Given the description of an element on the screen output the (x, y) to click on. 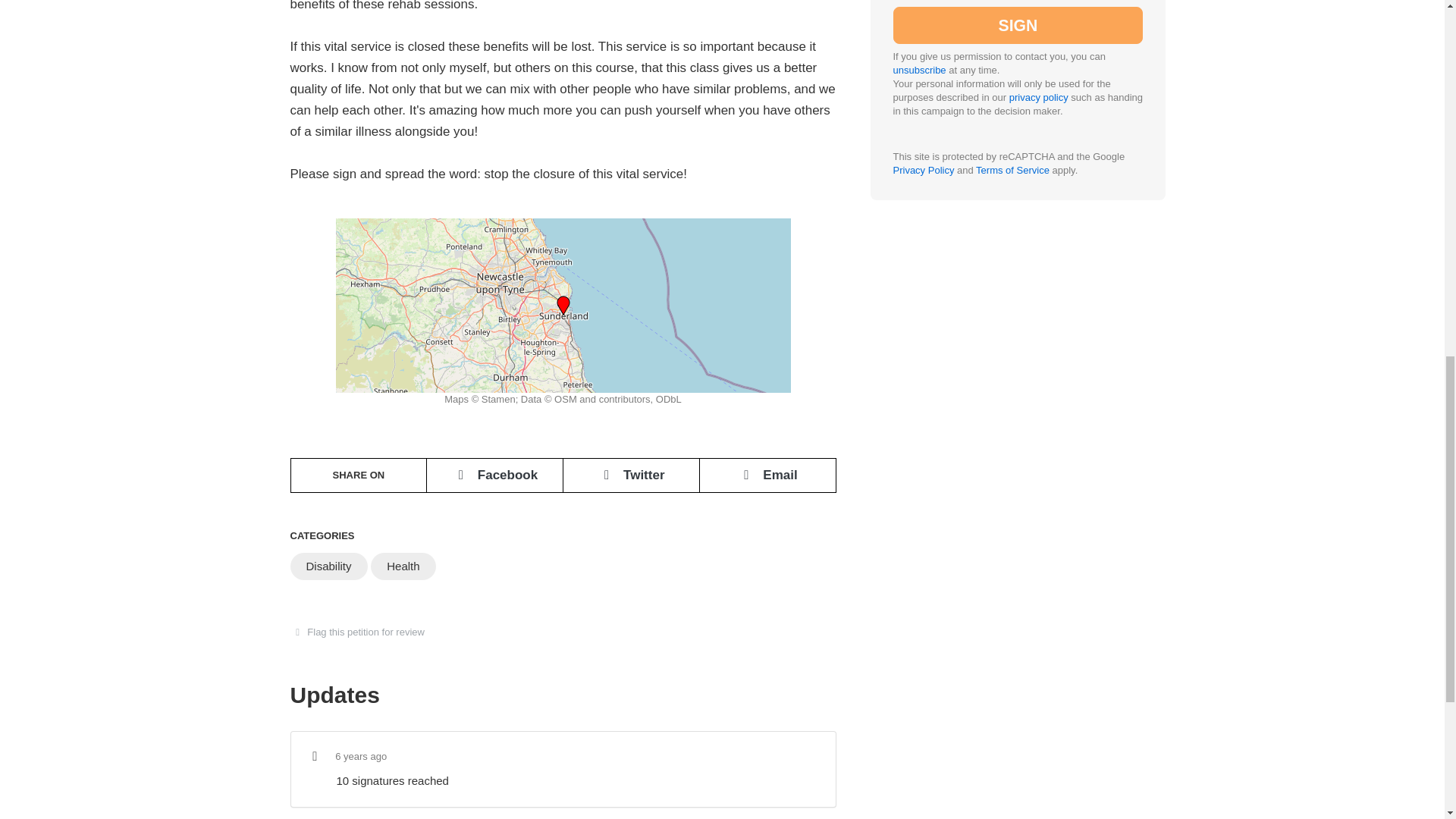
Share on Facebook (494, 475)
Facebook (494, 475)
Health (403, 566)
Terms of Service (1012, 130)
Share via Email (766, 475)
Flag this petition for review (361, 631)
Twitter (631, 475)
Privacy Policy (924, 130)
unsubscribe (919, 30)
Share on Twitter (631, 475)
Disability (327, 566)
SIGN (1017, 2)
Email (766, 475)
privacy policy (1038, 57)
